Given the description of an element on the screen output the (x, y) to click on. 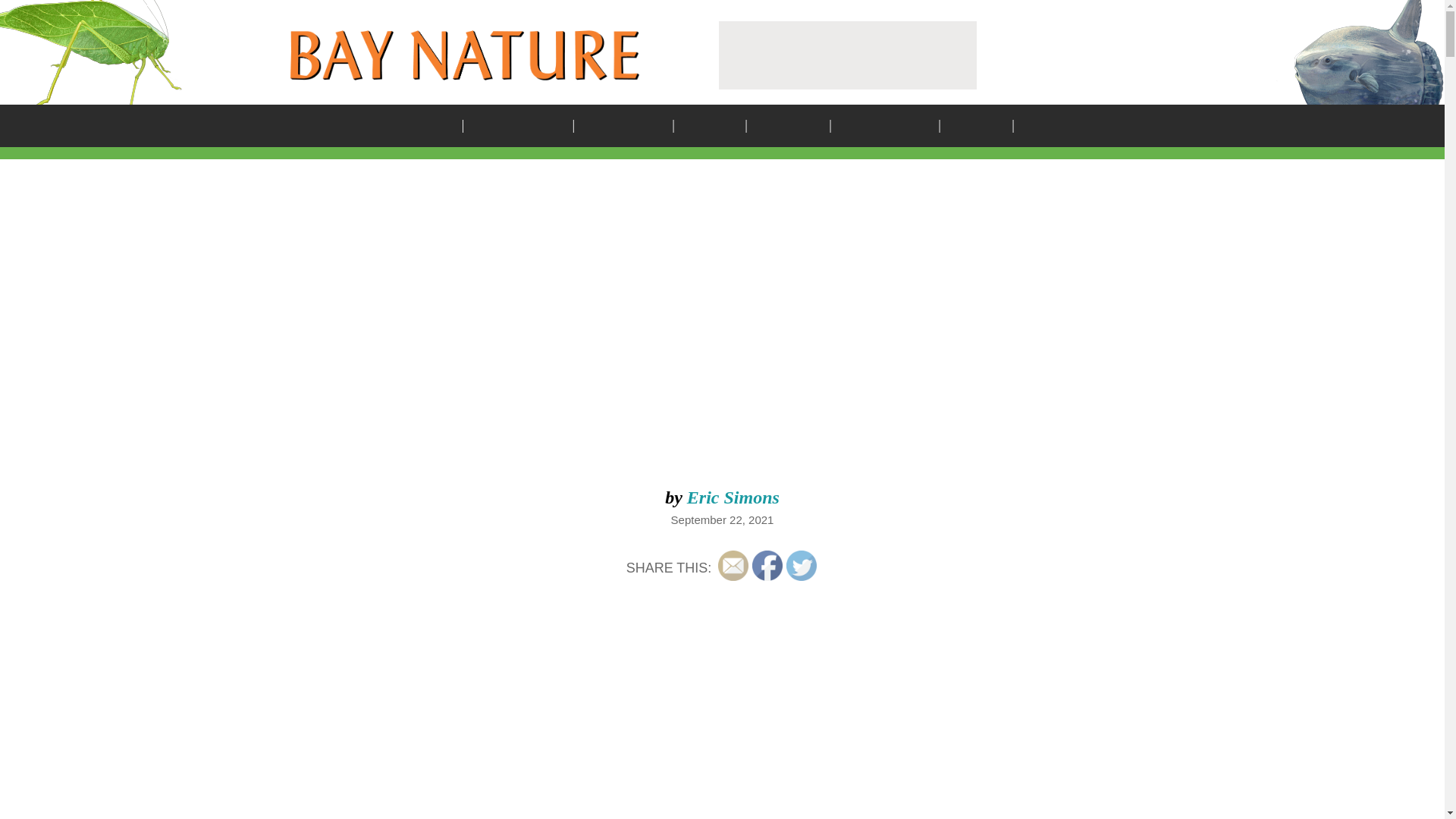
Posts by Eric Simons (732, 496)
Eric Simons (732, 496)
Facebook (767, 565)
Follow by Email (732, 565)
Bay Nature (464, 54)
Search (879, 409)
Twitter (801, 565)
